Given the description of an element on the screen output the (x, y) to click on. 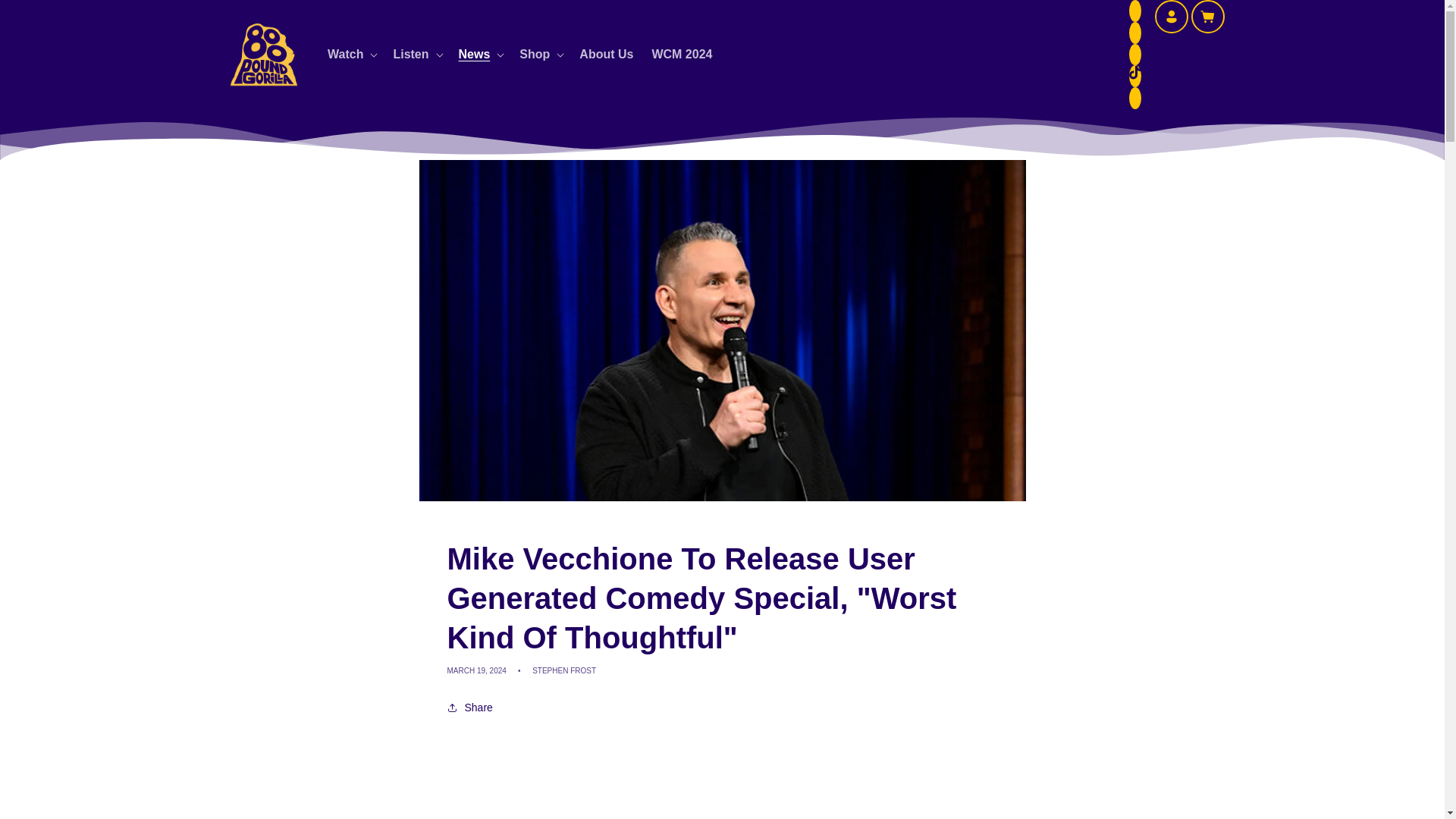
Skip to content (45, 17)
About Us (606, 54)
WCM 2024 (681, 54)
Log in (1171, 16)
YouTube video player (721, 773)
